Given the description of an element on the screen output the (x, y) to click on. 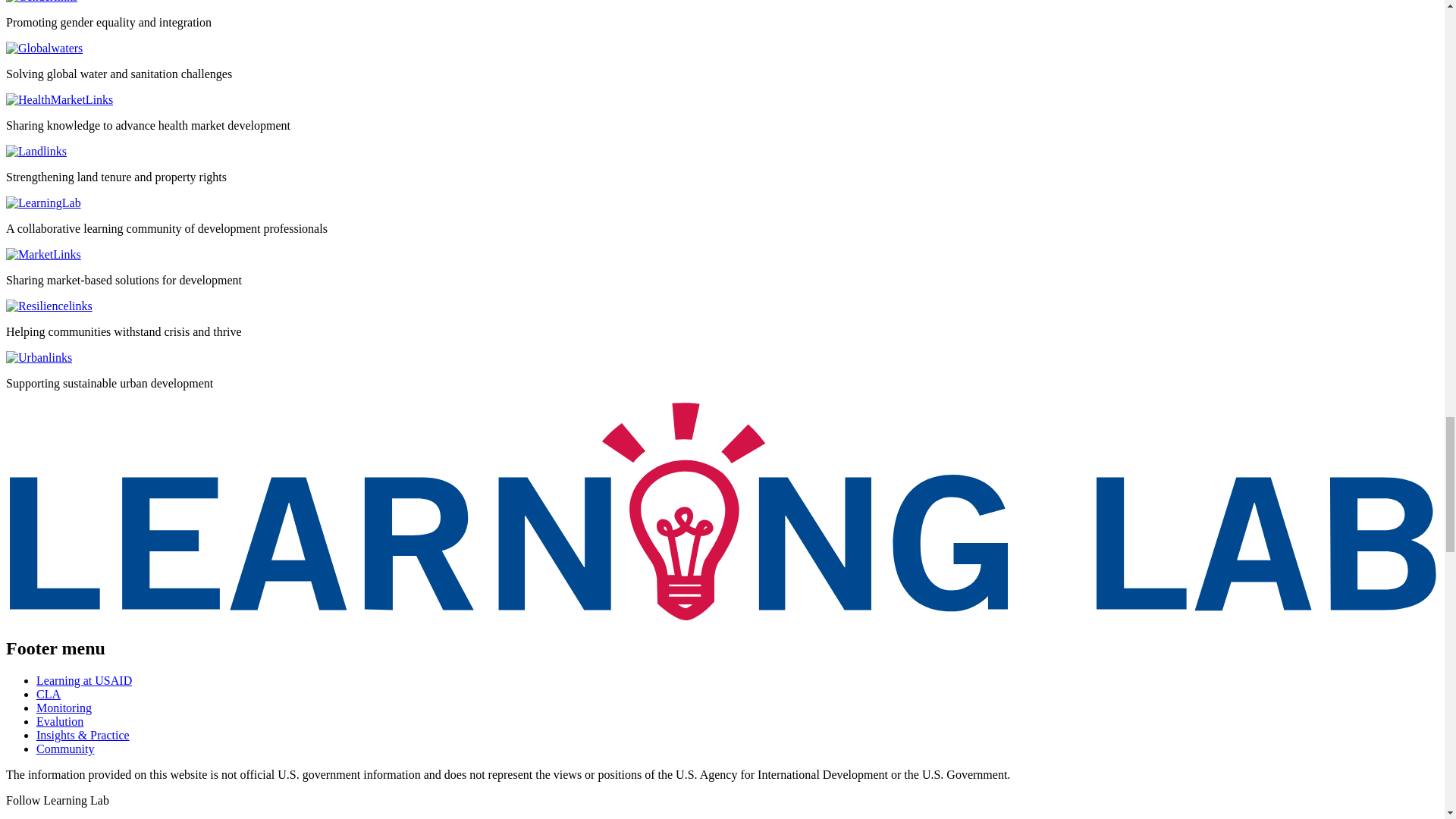
Go to HealthMarketLinks (59, 99)
Go to Globalwaters (43, 47)
Go to Genderlinks (41, 1)
